Given the description of an element on the screen output the (x, y) to click on. 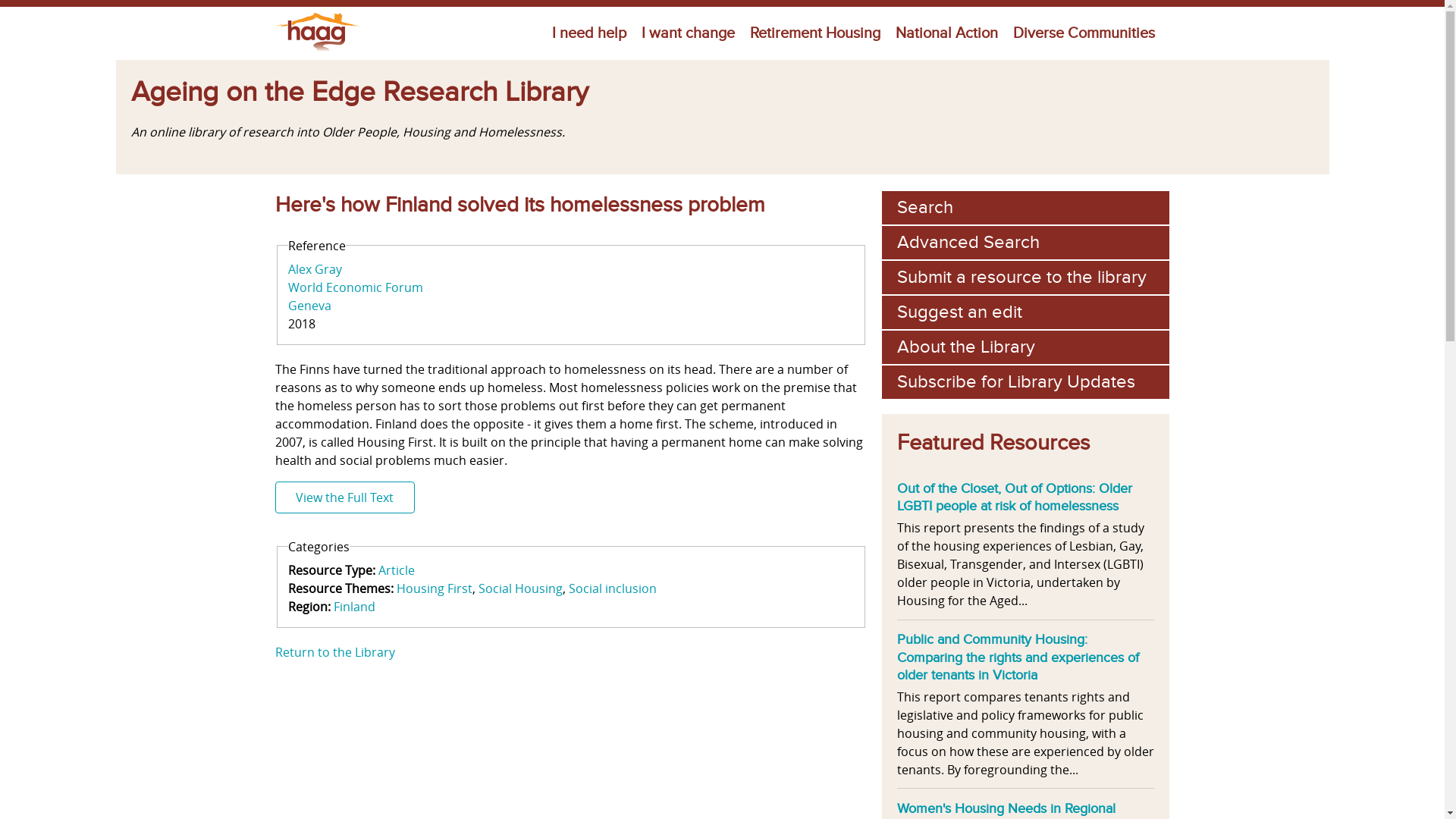
About the Library Element type: text (1025, 347)
Retirement Housing Element type: text (814, 32)
Social Housing Element type: text (517, 588)
Alex Gray Element type: text (315, 268)
Finland Element type: text (354, 606)
Housing First Element type: text (434, 588)
Advanced Search Element type: text (1025, 242)
Submit a resource to the library Element type: text (1025, 277)
Ageing on the Edge Research Library Element type: text (358, 92)
Search Element type: text (1025, 207)
Geneva Element type: text (309, 305)
World Economic Forum Element type: text (355, 287)
I want change Element type: text (687, 32)
Return to the Housing For The Aged Action Group home page Element type: hover (317, 50)
National Action Element type: text (945, 32)
Jump to navigation Element type: text (722, 8)
Subscribe for Library Updates Element type: text (1025, 381)
I need help Element type: text (588, 32)
Social inclusion Element type: text (609, 588)
View the Full Text Element type: text (344, 497)
Return to the Library Element type: text (334, 651)
Suggest an edit Element type: text (1025, 312)
Diverse Communities Element type: text (1083, 32)
Article Element type: text (396, 569)
